Given the description of an element on the screen output the (x, y) to click on. 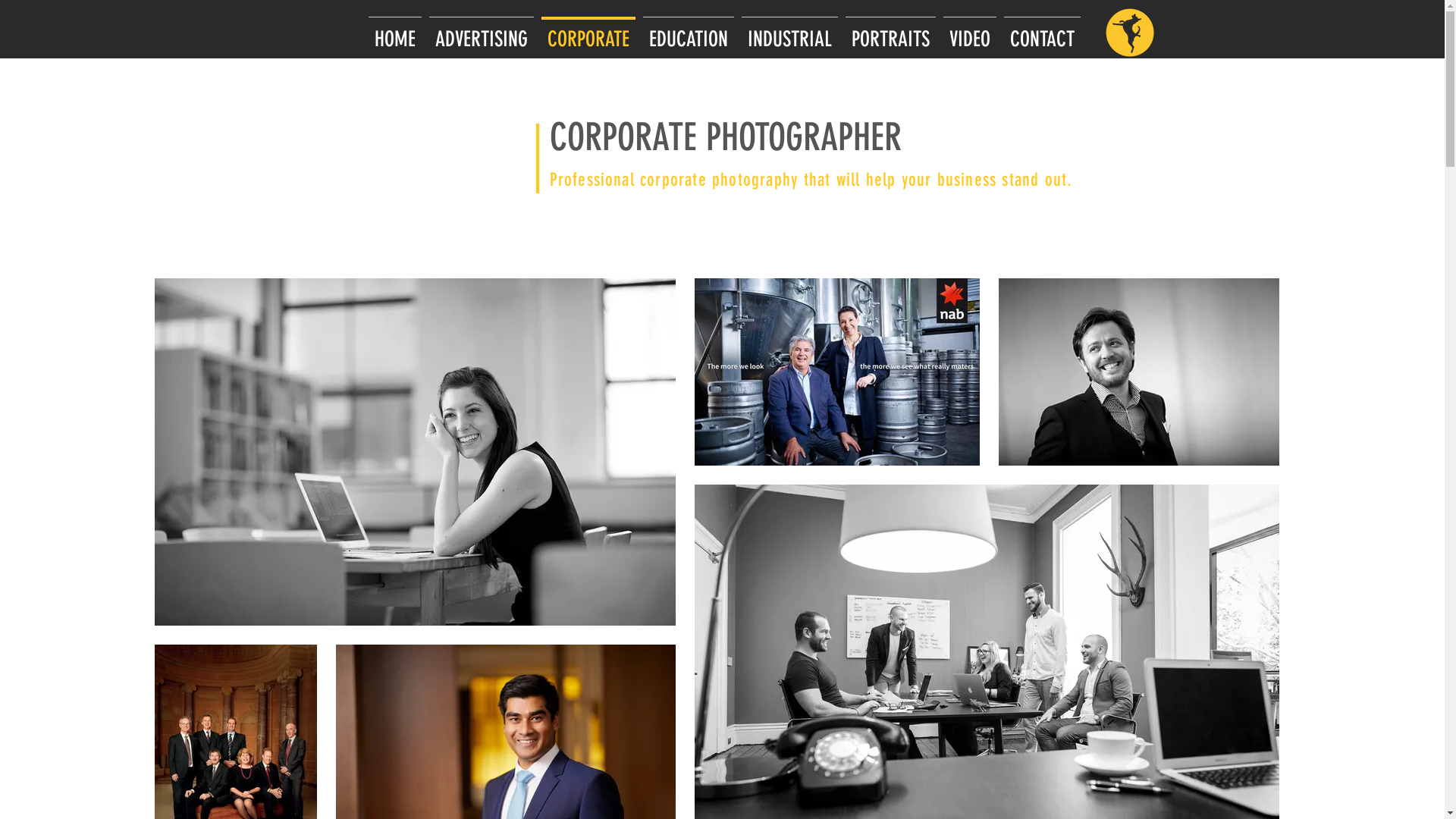
ADVERTISING Element type: text (480, 32)
CONTACT Element type: text (1041, 32)
HOME Element type: text (394, 32)
CORPORATE Element type: text (587, 32)
EDUCATION Element type: text (687, 32)
PORTRAITS Element type: text (890, 32)
INDUSTRIAL Element type: text (788, 32)
VIDEO Element type: text (968, 32)
